Given the description of an element on the screen output the (x, y) to click on. 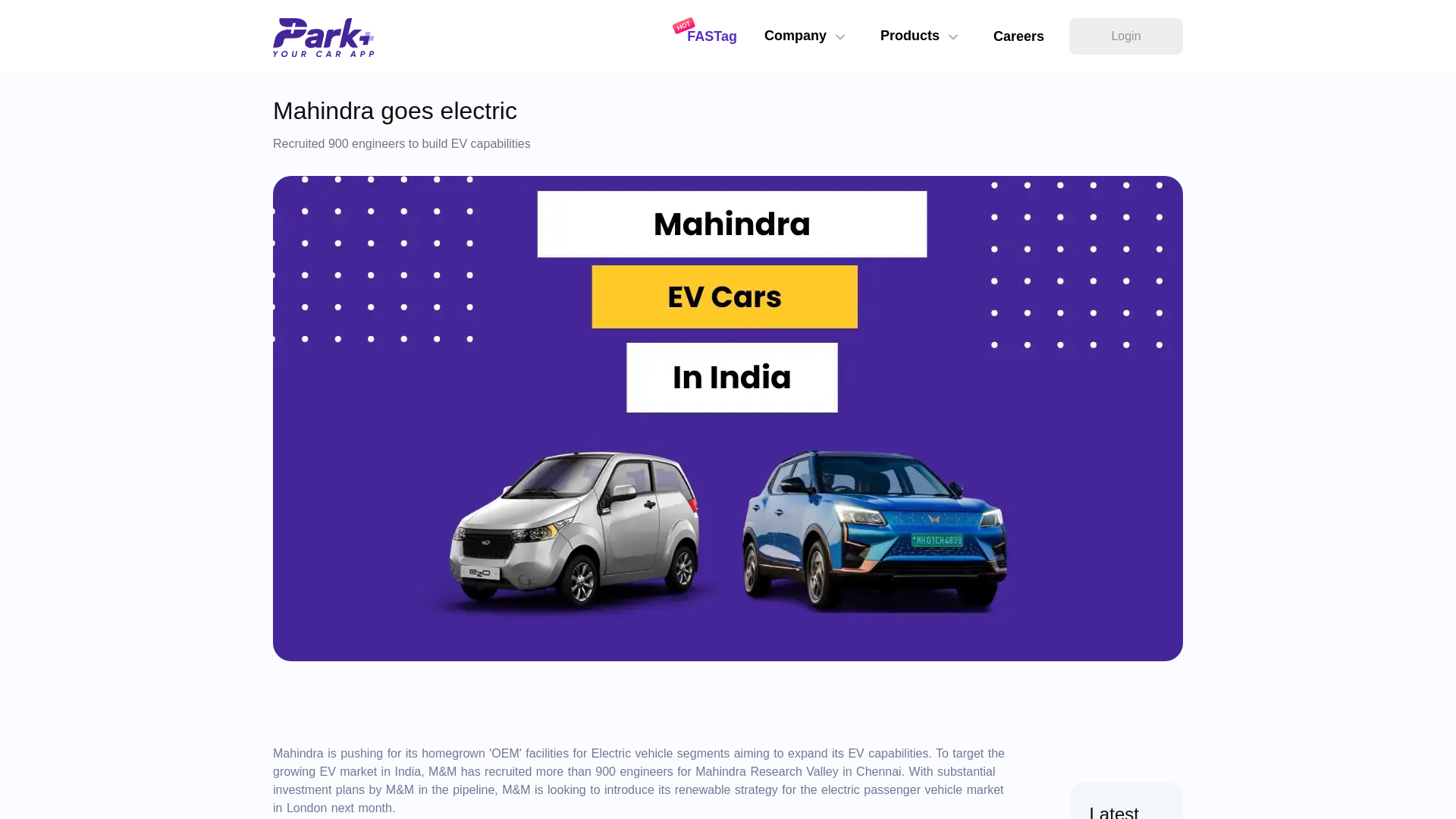
Login (1125, 36)
